Given the description of an element on the screen output the (x, y) to click on. 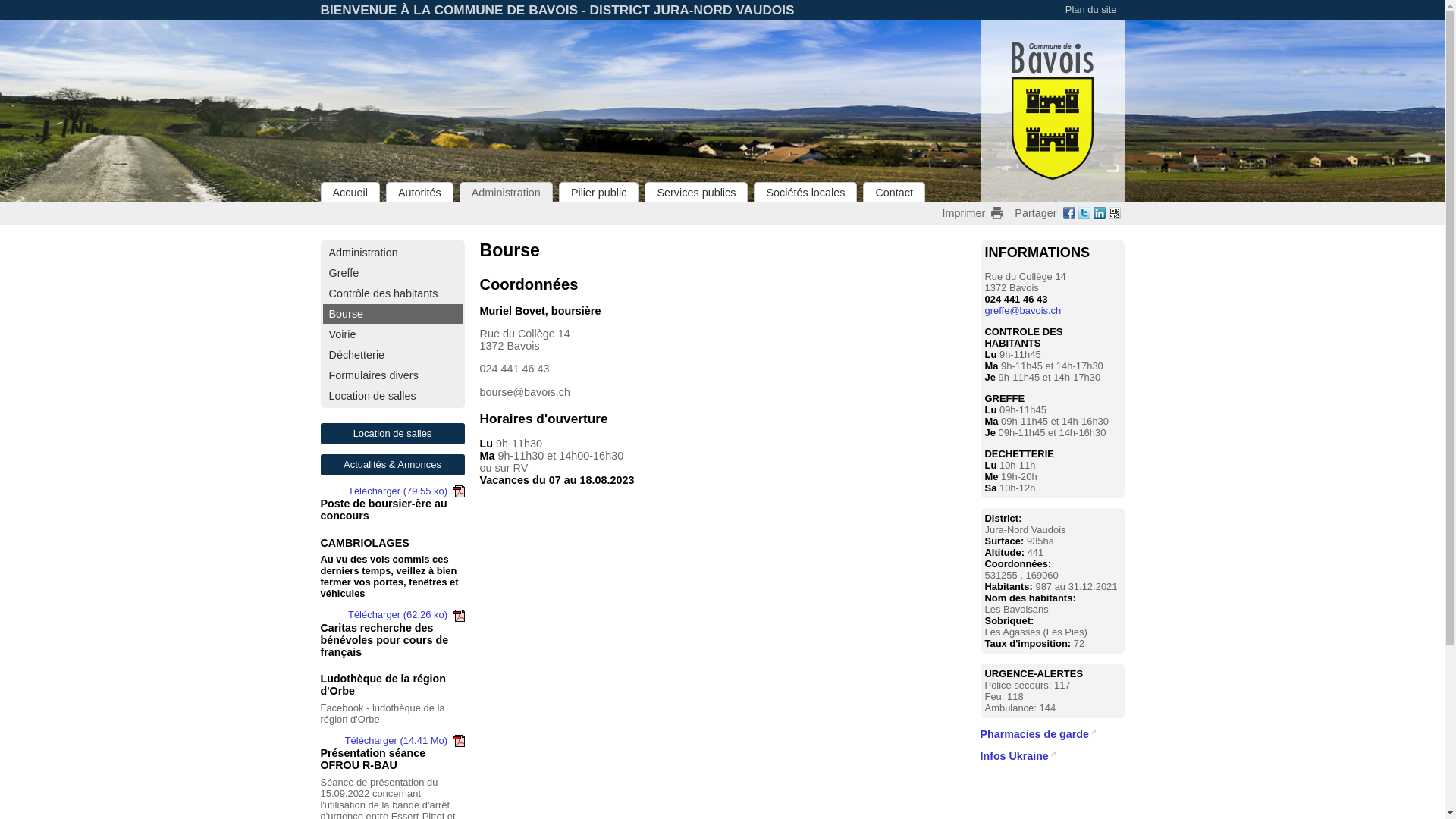
Partager sur Facebook Element type: hover (1069, 214)
Services publics Element type: text (695, 192)
Pharmacies de garde Element type: text (1037, 734)
Partager sur LinkedIn Element type: hover (1099, 214)
Plan du site Element type: text (1090, 9)
Greffe Element type: text (392, 272)
Contact Element type: text (893, 192)
Voirie Element type: text (392, 334)
Formulaires divers Element type: text (392, 375)
Infos Ukraine Element type: text (1016, 755)
Administration Element type: text (505, 192)
Location de salles Element type: text (392, 433)
Accueil Element type: text (349, 192)
Partager sur Twitter Element type: hover (1084, 214)
Pilier public Element type: text (598, 192)
greffe@bavois.ch Element type: text (1022, 310)
Administration Element type: text (392, 252)
Bourse Element type: text (392, 313)
Version imprimable Element type: hover (997, 213)
Afficher le QR-Code Element type: hover (1114, 214)
Location de salles Element type: text (392, 395)
